Given the description of an element on the screen output the (x, y) to click on. 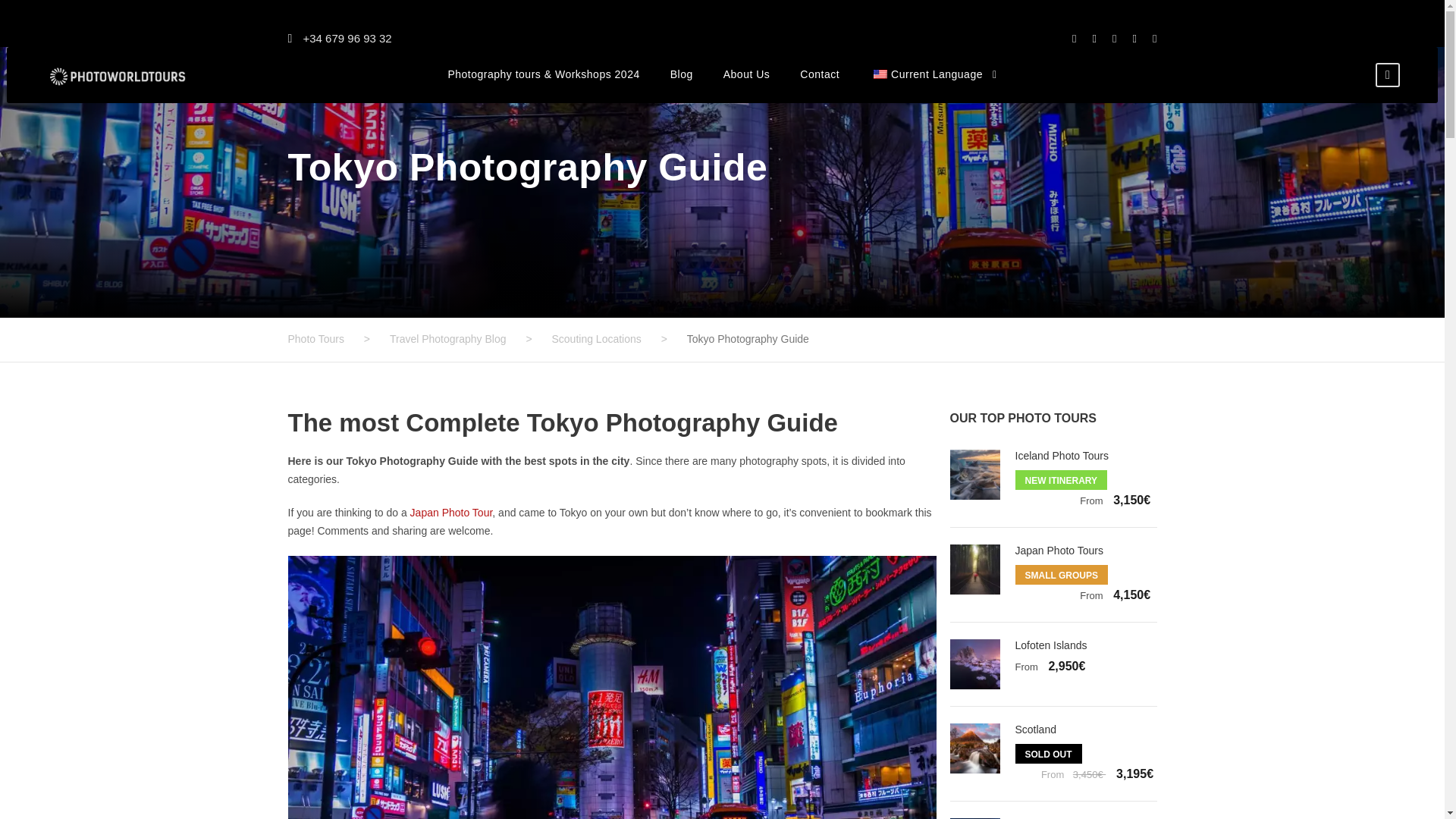
Iceland Photo Tours (1061, 455)
Japan Photo Tours (1058, 550)
Contact (819, 84)
Lofoten Islands (1050, 645)
Go to PhotoWorldTours. (315, 338)
Japan Photo Tour (451, 512)
Photo Tours (315, 338)
Go to the Scouting Locations Category archives. (595, 338)
Scouting Locations (595, 338)
Current Language (879, 73)
